Given the description of an element on the screen output the (x, y) to click on. 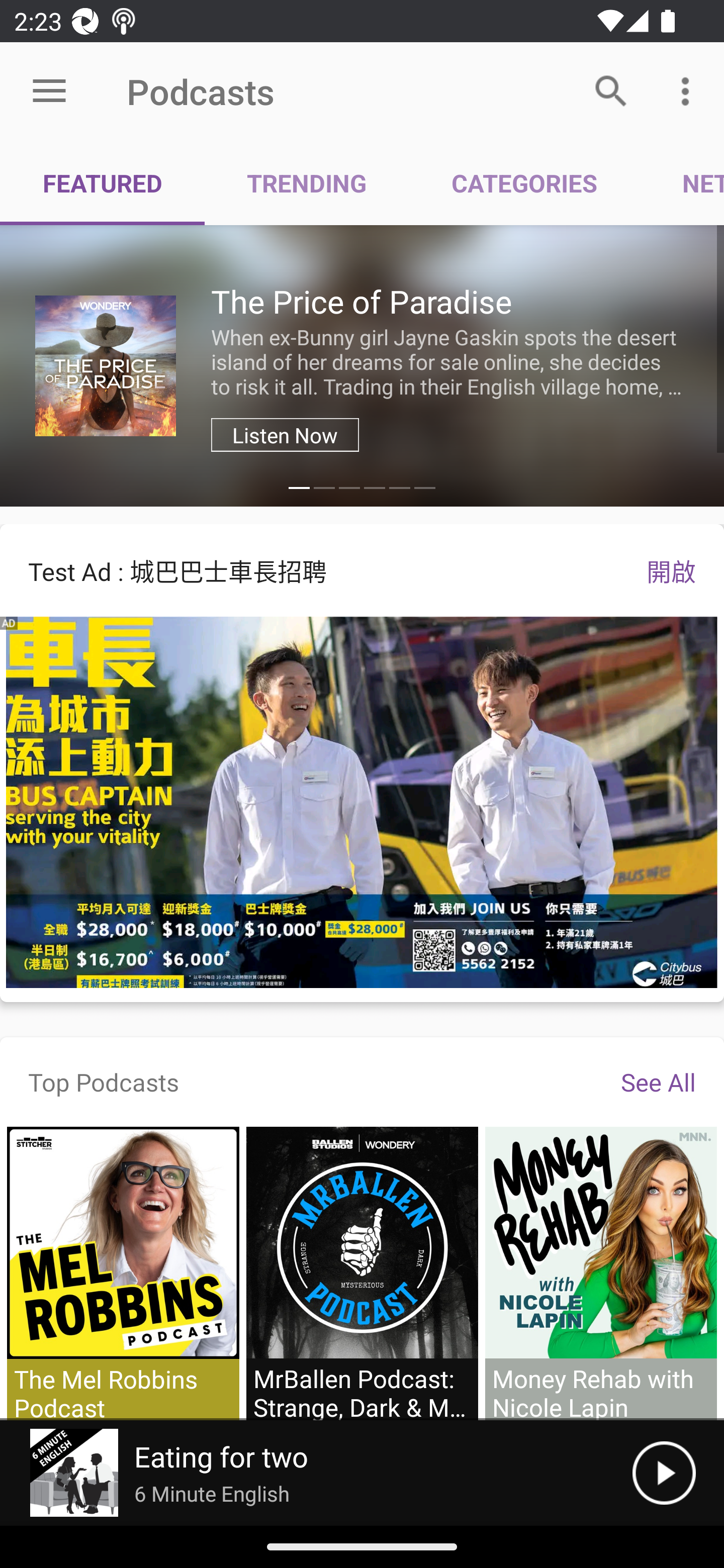
Open menu (49, 91)
Search (611, 90)
More options (688, 90)
FEATURED (102, 183)
TRENDING (306, 183)
CATEGORIES (524, 183)
Test Ad : 城巴巴士車長招聘 (309, 569)
開啟 (670, 569)
Top Podcasts (103, 1081)
See All (658, 1081)
The Mel Robbins Podcast (123, 1273)
Money Rehab with Nicole Lapin (600, 1273)
Picture Eating for two 6 Minute English (316, 1472)
Play (663, 1472)
